Given the description of an element on the screen output the (x, y) to click on. 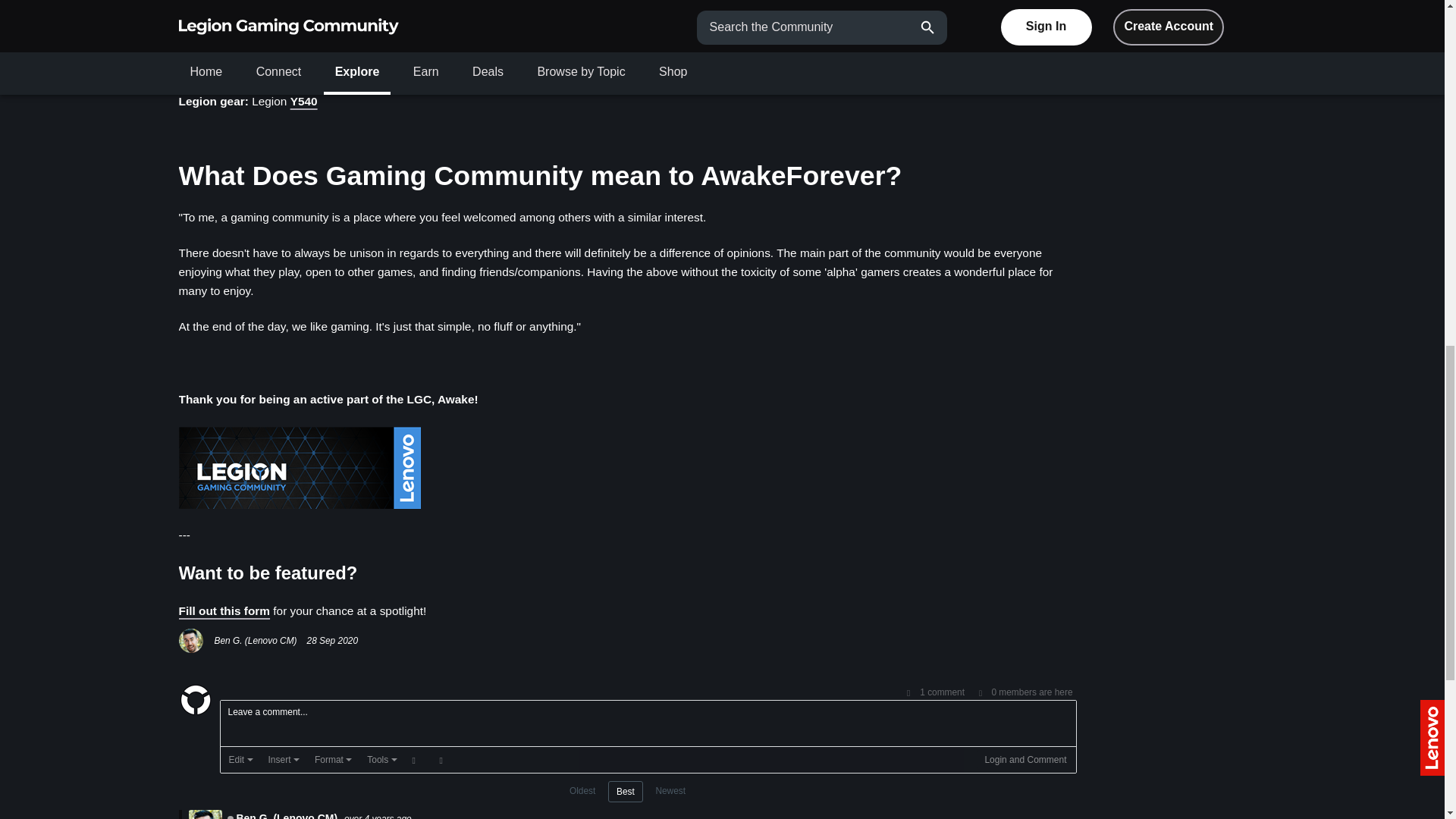
YouTube (296, 65)
Y540 (303, 101)
Twitch (344, 65)
Fill out this form (224, 610)
